Given the description of an element on the screen output the (x, y) to click on. 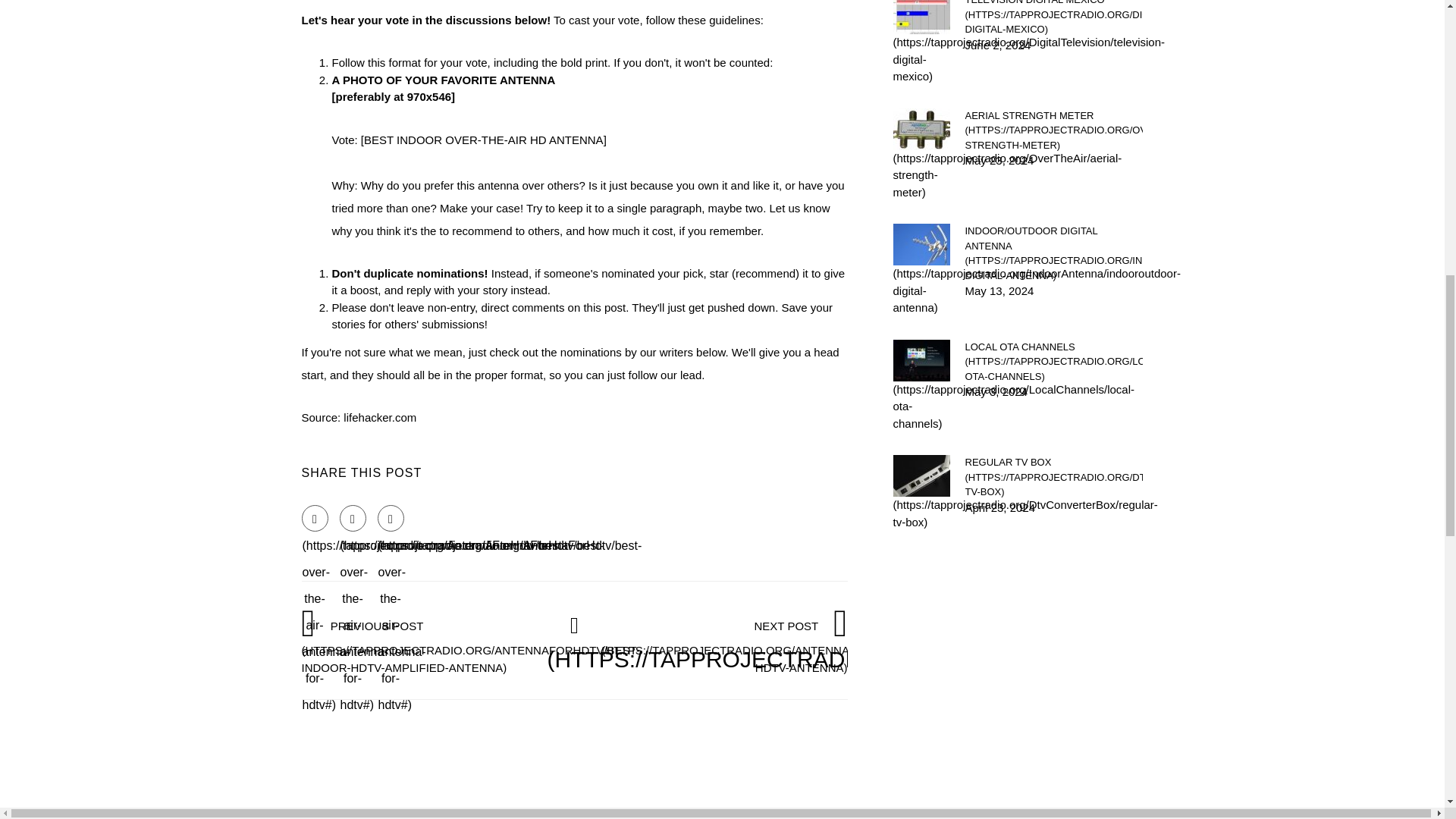
TELEVISION DIGITAL MEXICO (1052, 18)
NEXT POST (768, 646)
Facebook (315, 518)
Google Plus (390, 518)
PREVIOUS POST (470, 646)
Twitter (352, 518)
AERIAL STRENGTH METER (1052, 129)
